Given the description of an element on the screen output the (x, y) to click on. 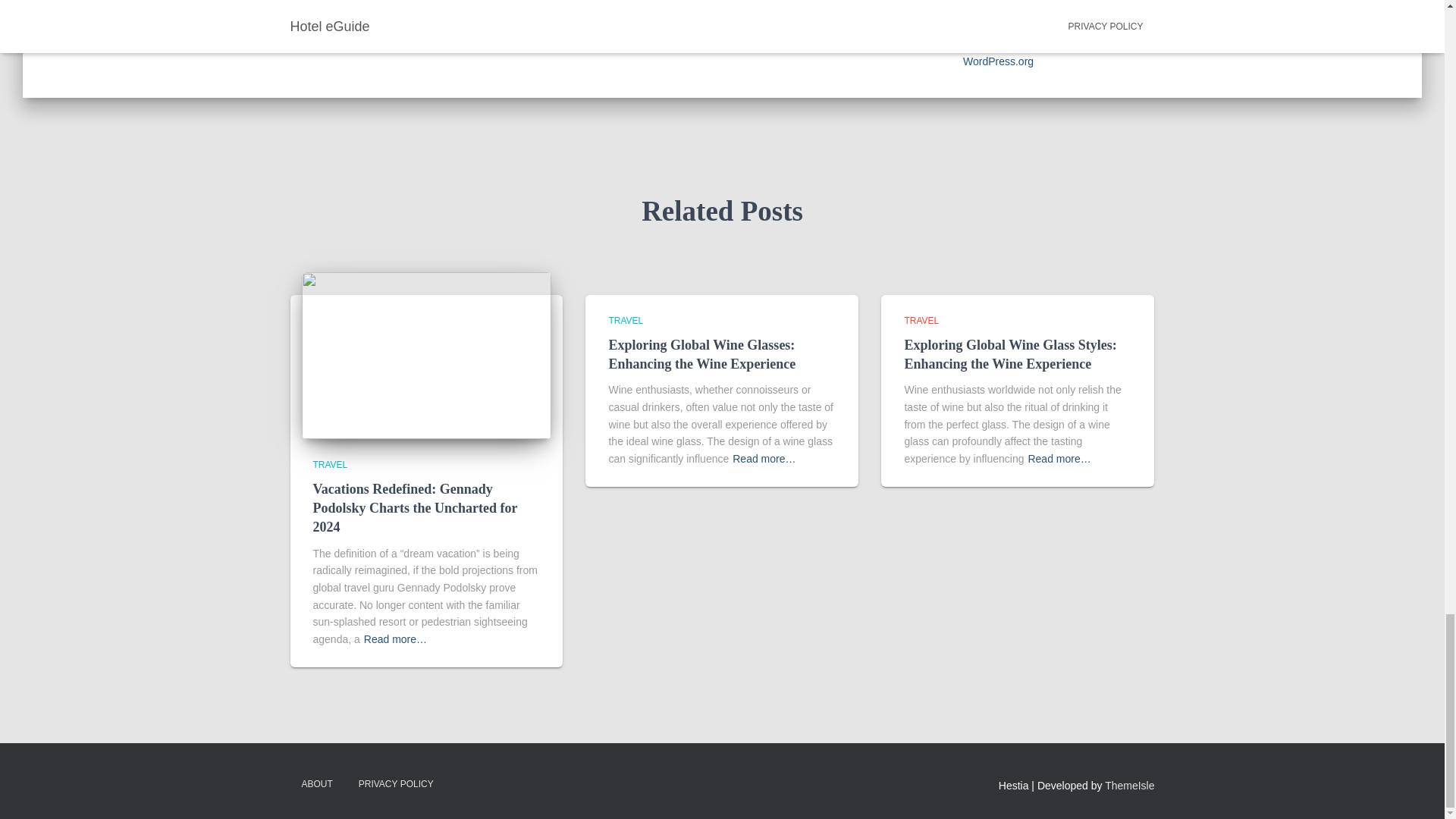
View all posts in Travel (330, 464)
View all posts in Travel (921, 320)
View all posts in Travel (625, 320)
Exploring Global Wine Glasses: Enhancing the Wine Experience (701, 354)
